Given the description of an element on the screen output the (x, y) to click on. 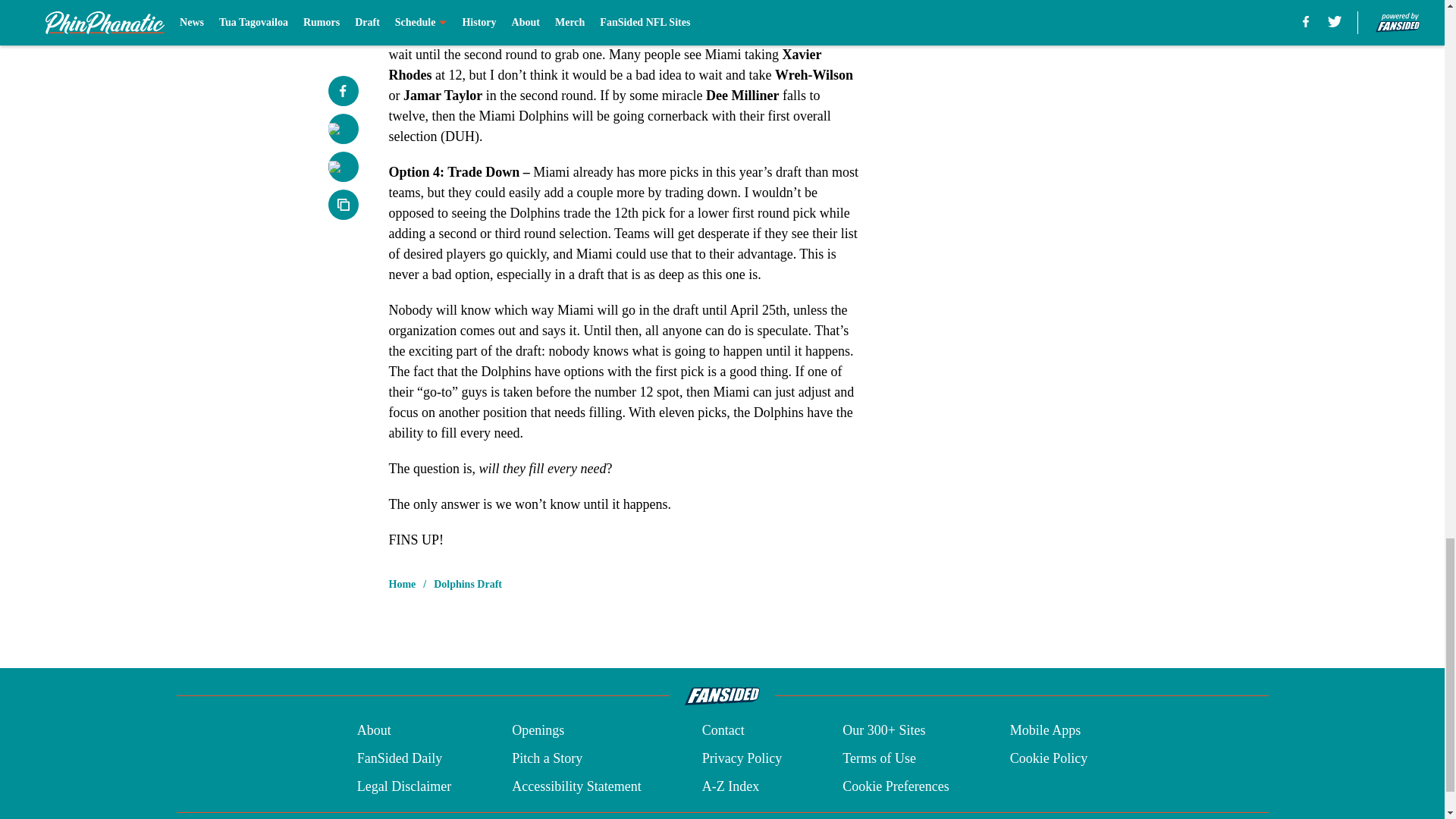
Terms of Use (879, 758)
Privacy Policy (742, 758)
Cookie Preferences (896, 786)
FanSided Daily (399, 758)
Mobile Apps (1045, 730)
Contact (722, 730)
A-Z Index (729, 786)
Home (401, 584)
Openings (538, 730)
Dolphins Draft (467, 584)
